Given the description of an element on the screen output the (x, y) to click on. 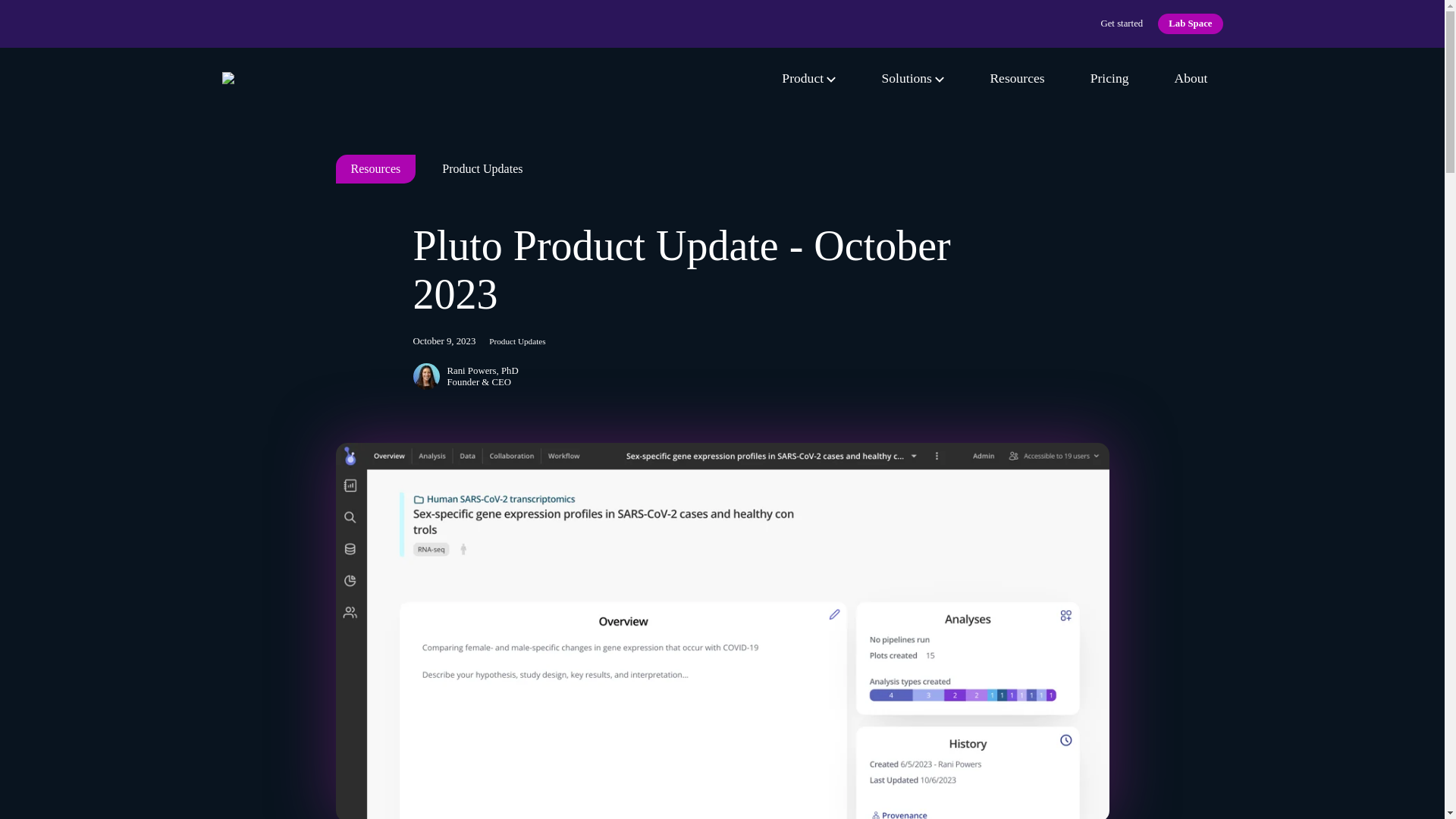
Product (808, 77)
Pricing (1109, 77)
About (1191, 77)
Get started (1121, 23)
Solutions (911, 77)
Lab Space (1190, 23)
Resources (1016, 77)
